Given the description of an element on the screen output the (x, y) to click on. 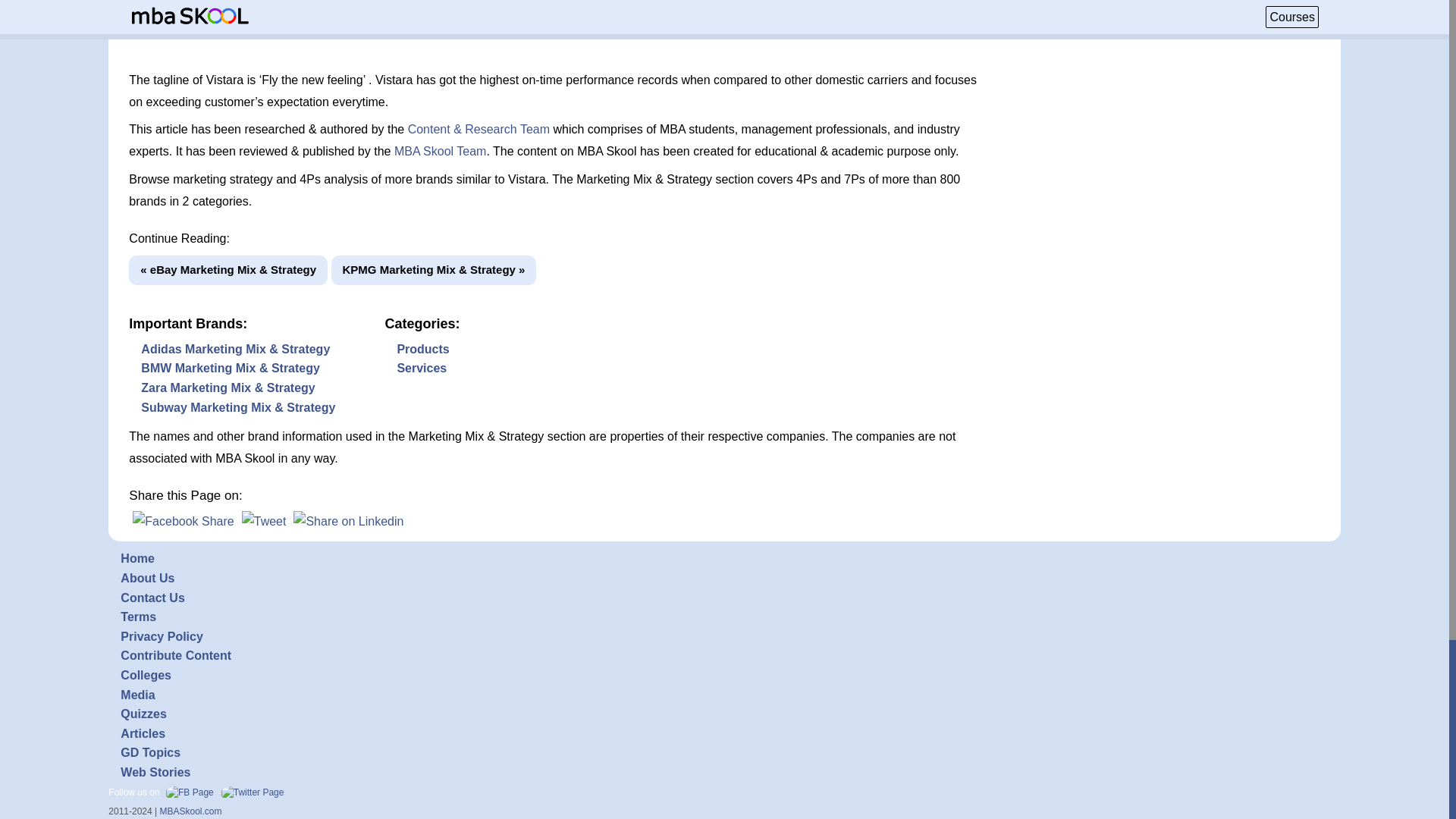
MBA Skool Team (440, 151)
Facebook Share (182, 521)
Tweet (263, 521)
Products (422, 349)
Services (421, 367)
Share on Linkedin (348, 521)
